Given the description of an element on the screen output the (x, y) to click on. 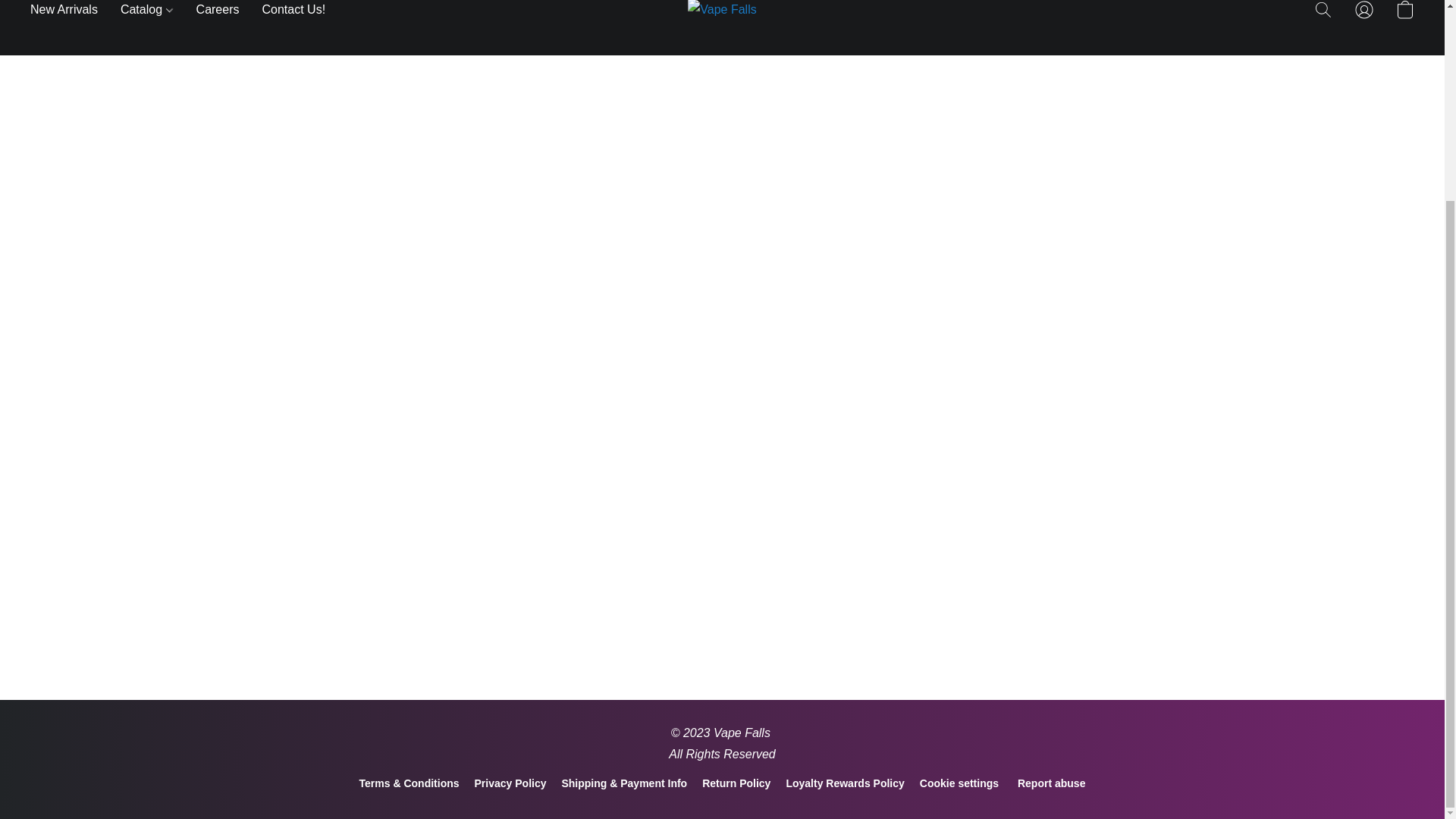
Go to your shopping cart (1404, 13)
Report abuse (1050, 782)
Privacy Policy (510, 782)
New Arrivals (69, 12)
Careers (217, 12)
Search the website (1323, 13)
Contact Us! (287, 12)
Loyalty Rewards Policy (845, 782)
Return Policy (735, 782)
Catalog (146, 12)
